Given the description of an element on the screen output the (x, y) to click on. 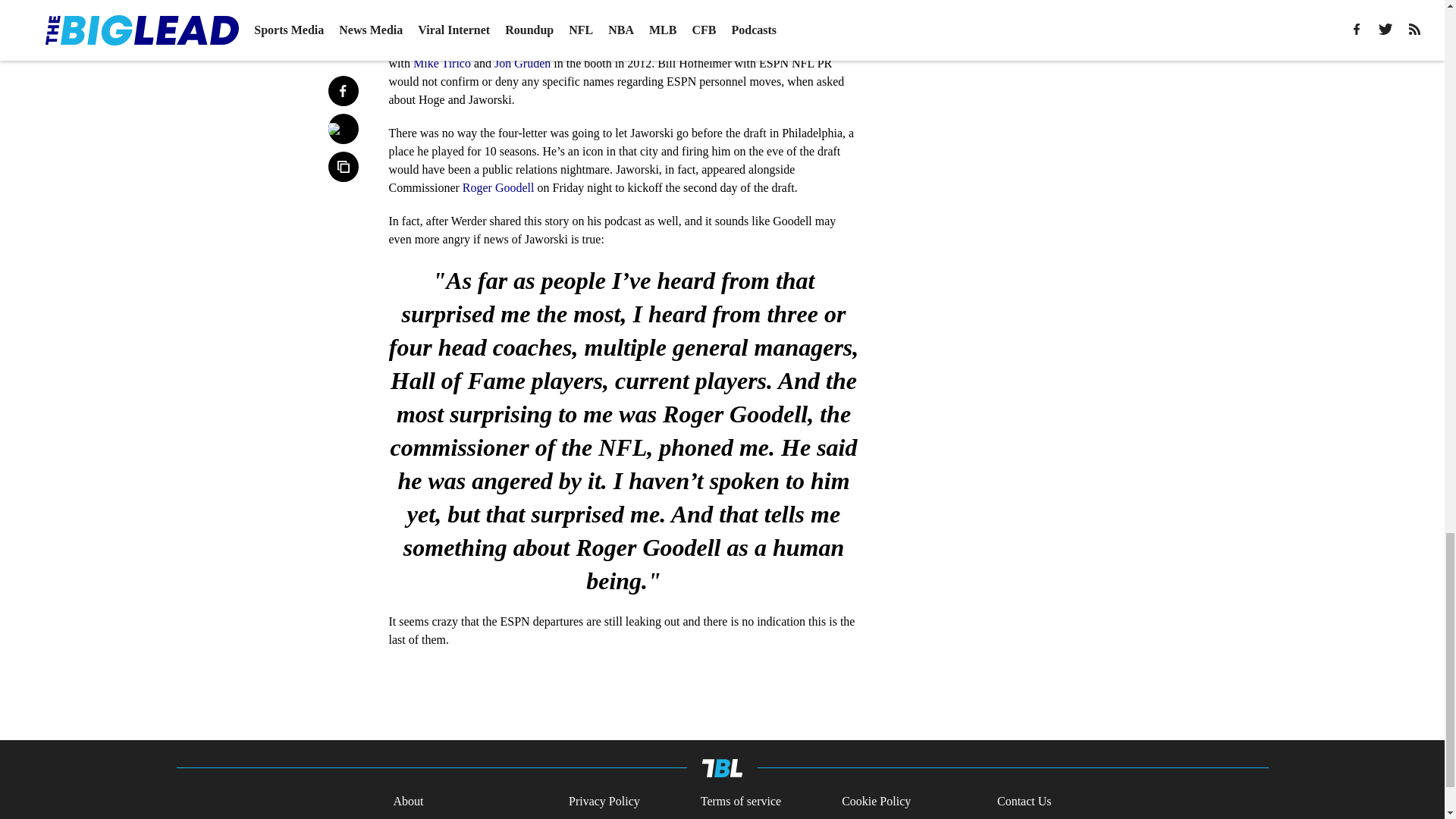
Roger Goodell (498, 187)
Privacy Policy (604, 801)
2017 NFL Draft (571, 8)
Jon Gruden (522, 62)
Contact Us (1024, 801)
About (408, 801)
Mike Tirico (441, 62)
Cookie Policy (876, 801)
Terms of service (740, 801)
